Given the description of an element on the screen output the (x, y) to click on. 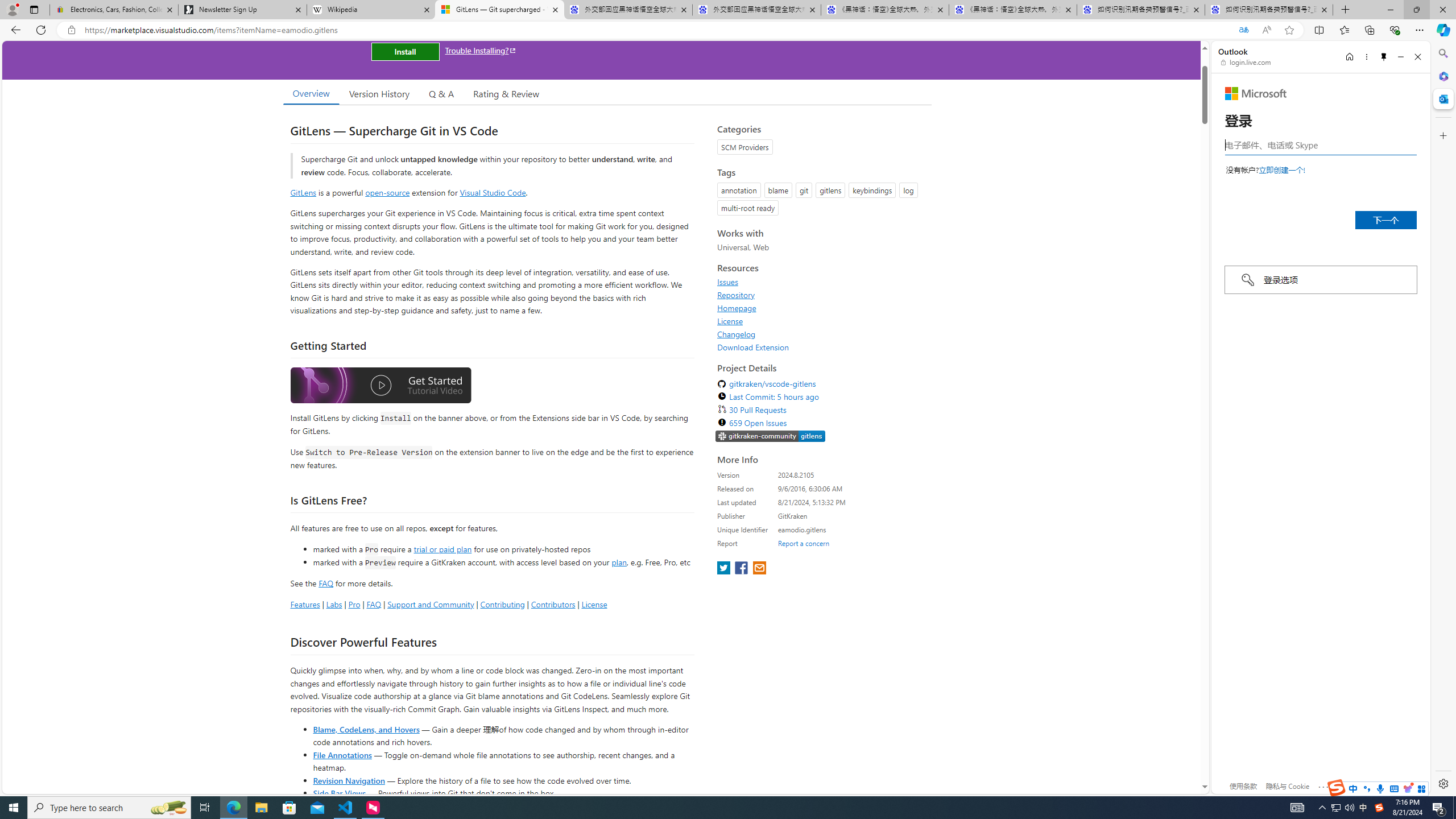
Support and Community (430, 603)
Issues (727, 281)
Pro (354, 603)
trial or paid plan (442, 548)
Issues (820, 281)
